Given the description of an element on the screen output the (x, y) to click on. 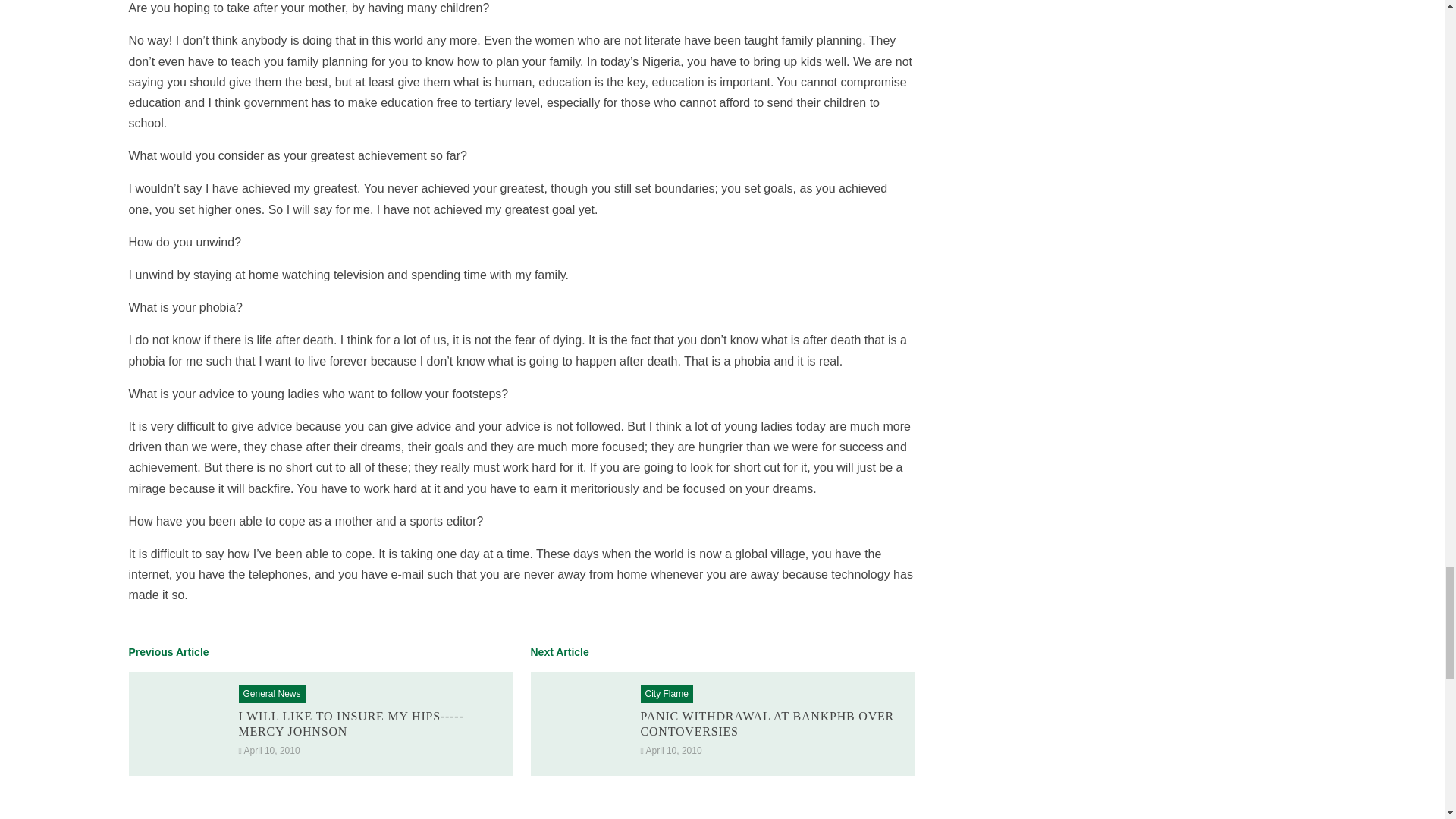
PANIC WITHDRAWAL AT BANKPHB OVER CONTOVERSIES (766, 723)
General News (271, 693)
City Flame (666, 693)
General News (271, 693)
I WILL LIKE TO INSURE MY HIPS-----MERCY JOHNSON (350, 723)
I WILL LIKE TO INSURE MY  HIPS-----MERCY JOHNSON (350, 723)
I WILL LIKE TO INSURE MY  HIPS-----MERCY JOHNSON (181, 722)
City Flame (666, 693)
PANIC WITHDRAWAL AT BANKPHB OVER CONTOVERSIES (766, 723)
PANIC WITHDRAWAL AT BANKPHB OVER CONTOVERSIES (583, 722)
